Given the description of an element on the screen output the (x, y) to click on. 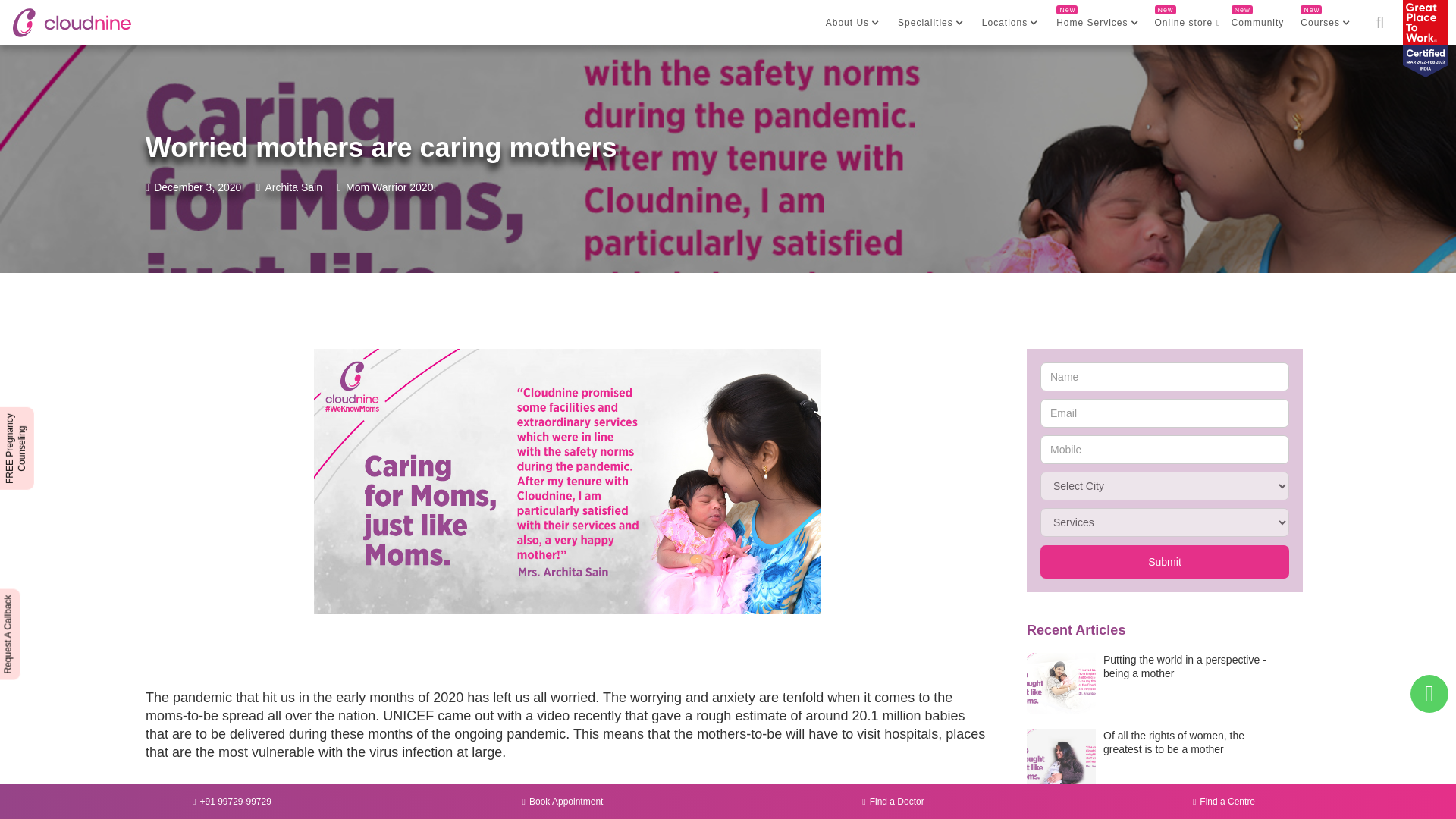
Locations (1005, 22)
Submit (1164, 561)
About Us (848, 22)
Request A Callback (44, 600)
Specialities (927, 22)
